Given the description of an element on the screen output the (x, y) to click on. 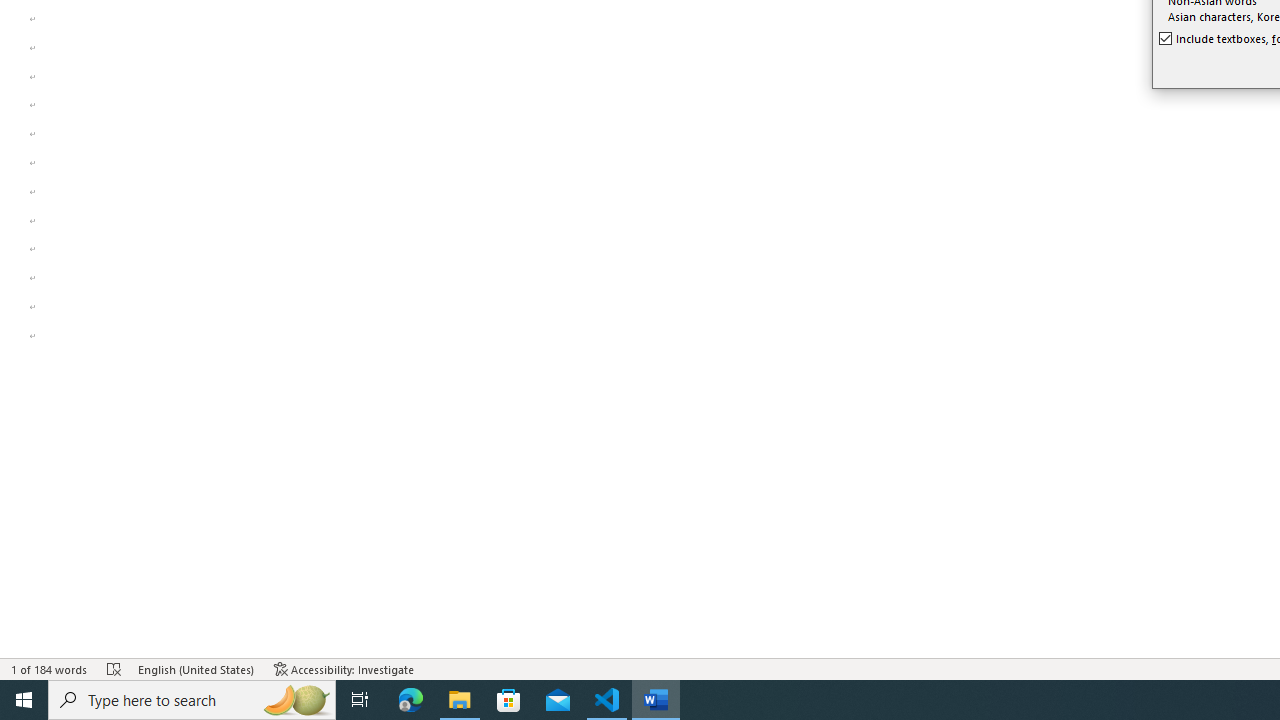
Word - 1 running window (656, 699)
Microsoft Edge (411, 699)
Word Count 1 of 184 words (49, 668)
